Given the description of an element on the screen output the (x, y) to click on. 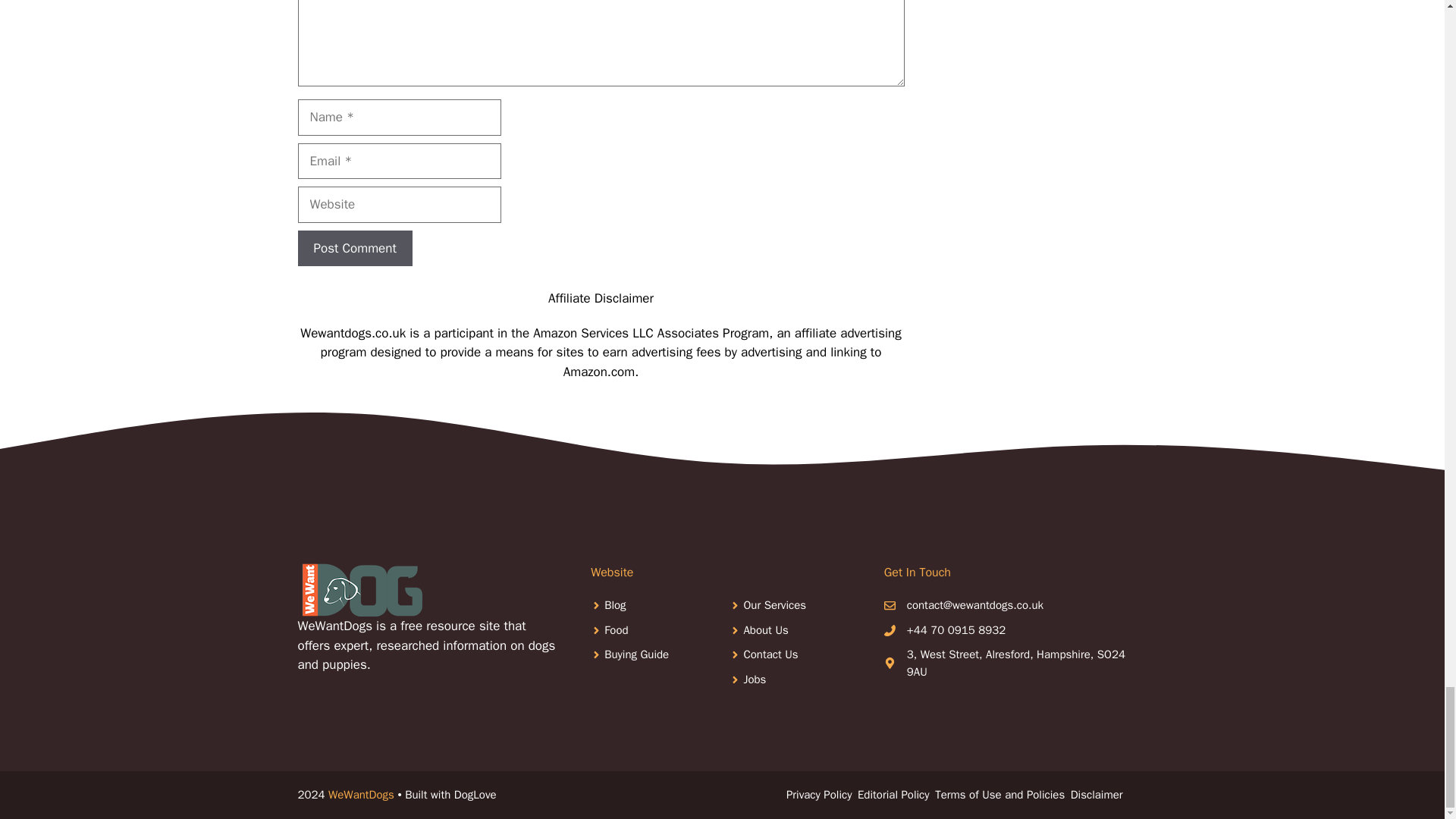
Post Comment (354, 248)
Post Comment (354, 248)
